Given the description of an element on the screen output the (x, y) to click on. 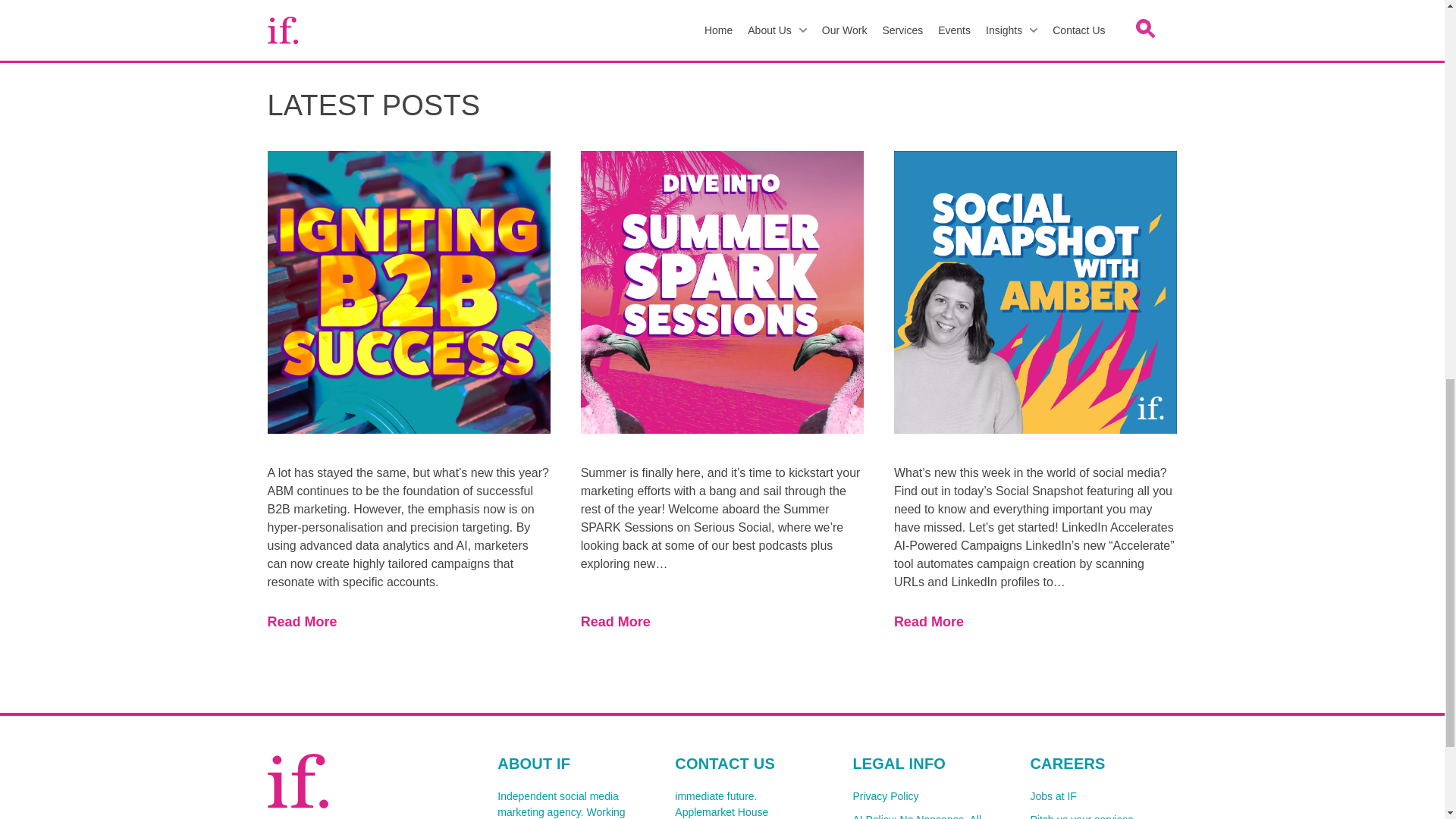
Read More (408, 621)
Read More (1034, 621)
Read More (721, 621)
